Given the description of an element on the screen output the (x, y) to click on. 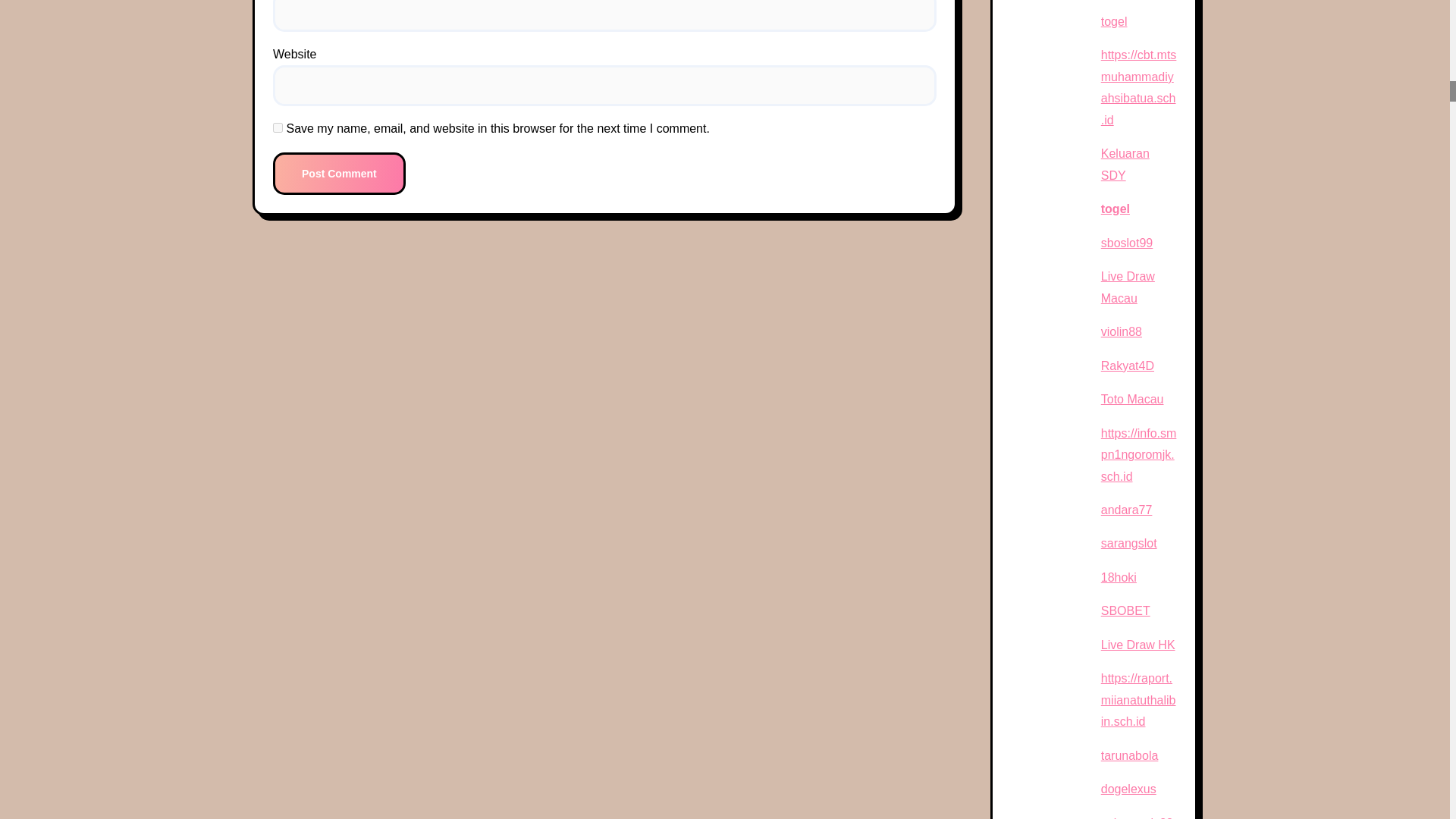
Post Comment (339, 172)
yes (277, 127)
